Given the description of an element on the screen output the (x, y) to click on. 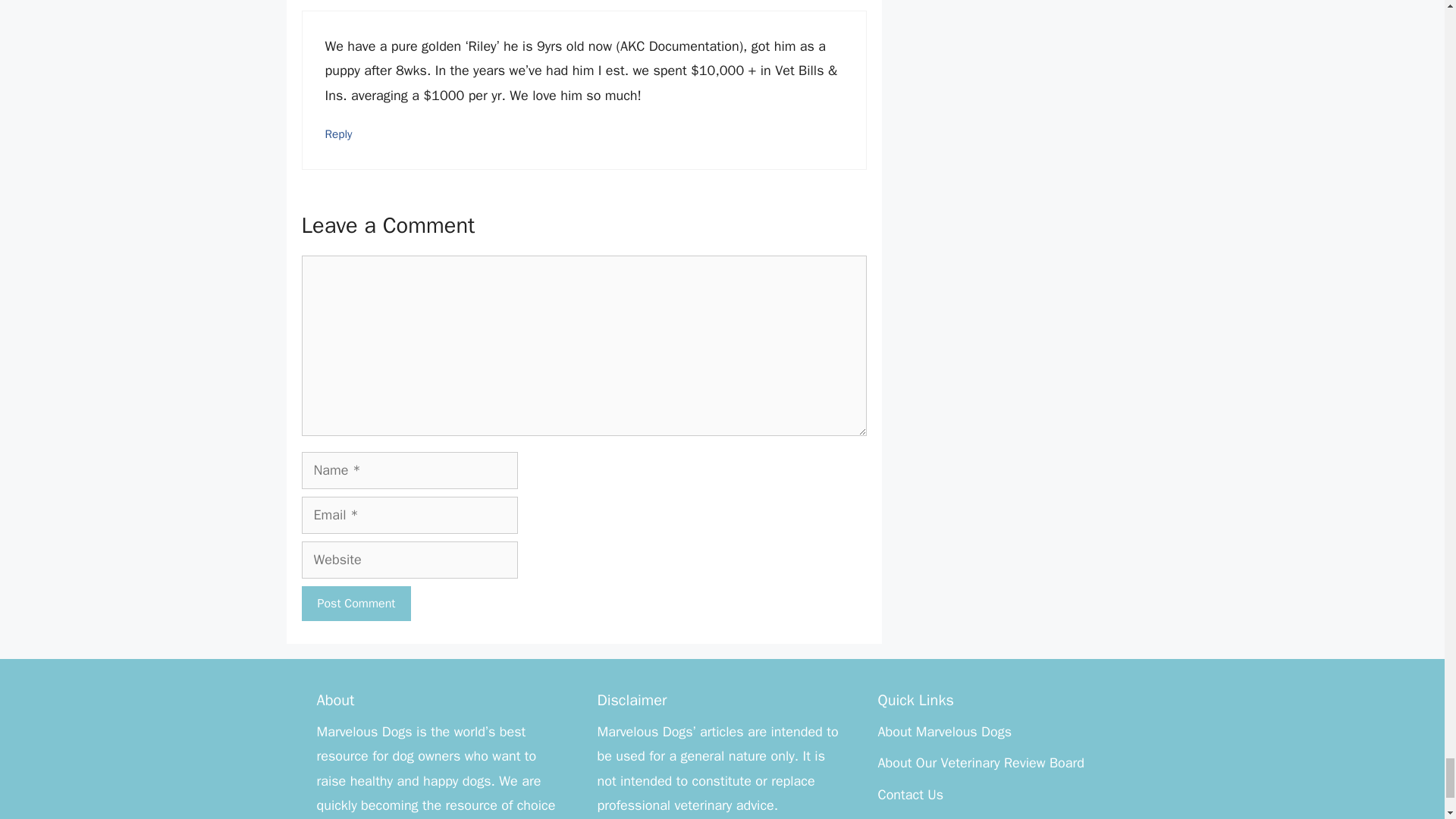
Post Comment (356, 603)
